Given the description of an element on the screen output the (x, y) to click on. 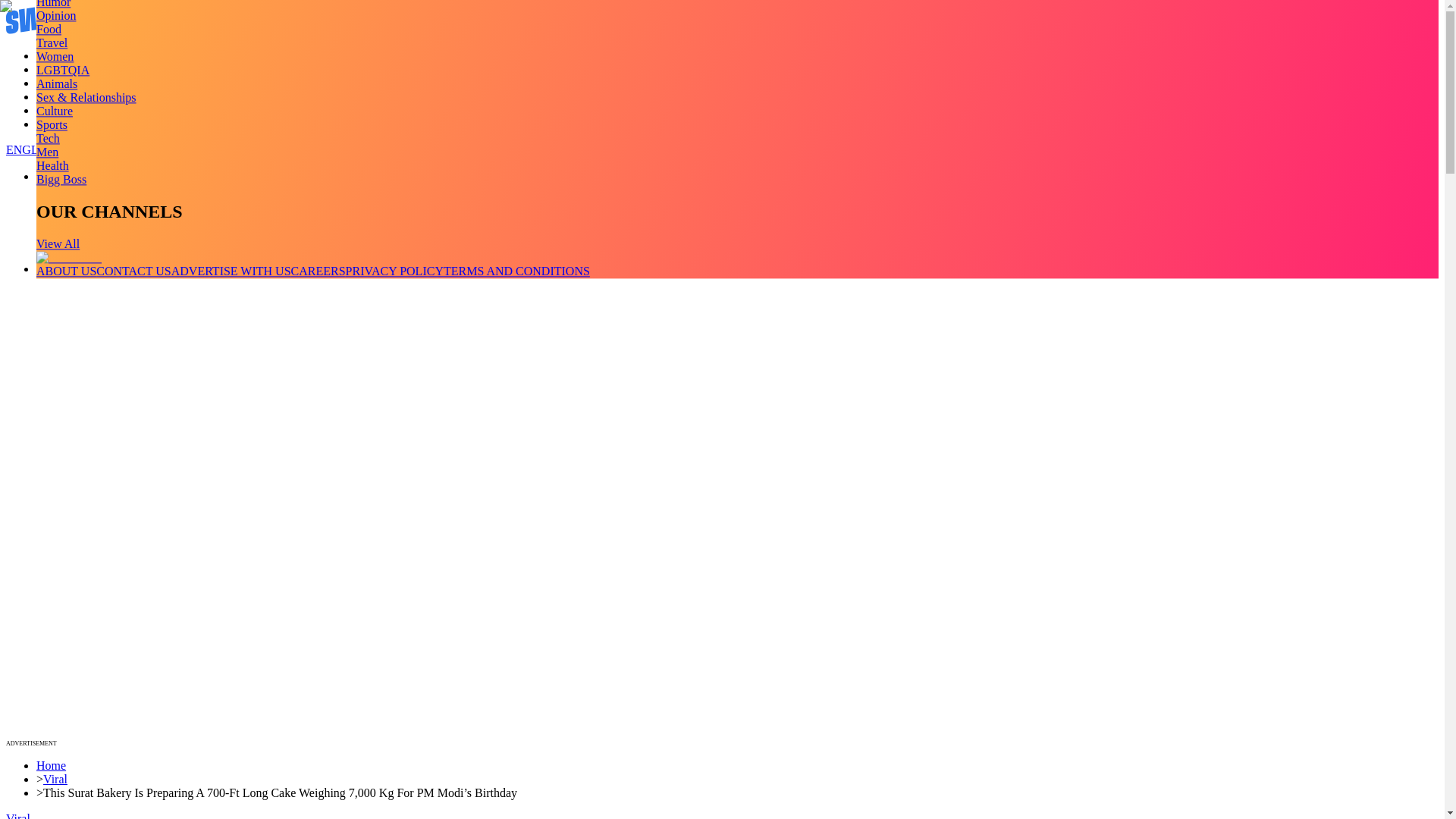
Women (55, 56)
Health (52, 164)
Men (47, 151)
ABOUT US (66, 270)
Bigg Boss (60, 178)
Videos (52, 69)
ADVERTISE WITH US (231, 270)
Food (48, 29)
Trending (58, 55)
Sports (51, 124)
Animals (56, 83)
CONTACT US (133, 270)
Travel (51, 42)
Spotlight (58, 123)
Stories (52, 82)
